Given the description of an element on the screen output the (x, y) to click on. 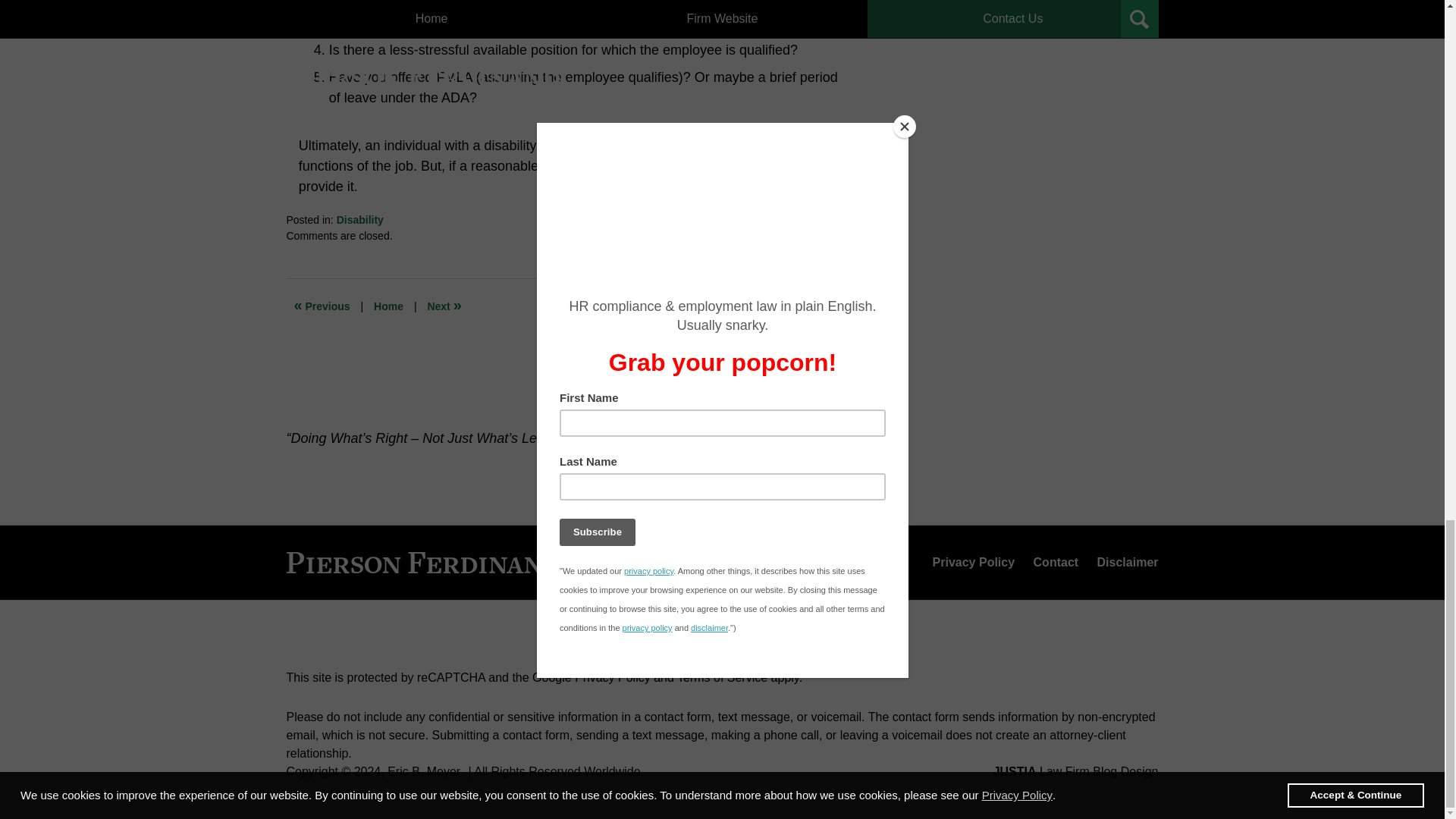
JUSTIA Law Firm Blog Design (1075, 771)
Disclaimer (1127, 562)
Well, that stinks! Doo-doo creates a discrimination claim. (443, 306)
View all posts in Disability (360, 219)
Privacy Policy (973, 562)
Page 18 (571, 98)
Home (388, 306)
Privacy Policy (612, 676)
Disability (360, 219)
